Given the description of an element on the screen output the (x, y) to click on. 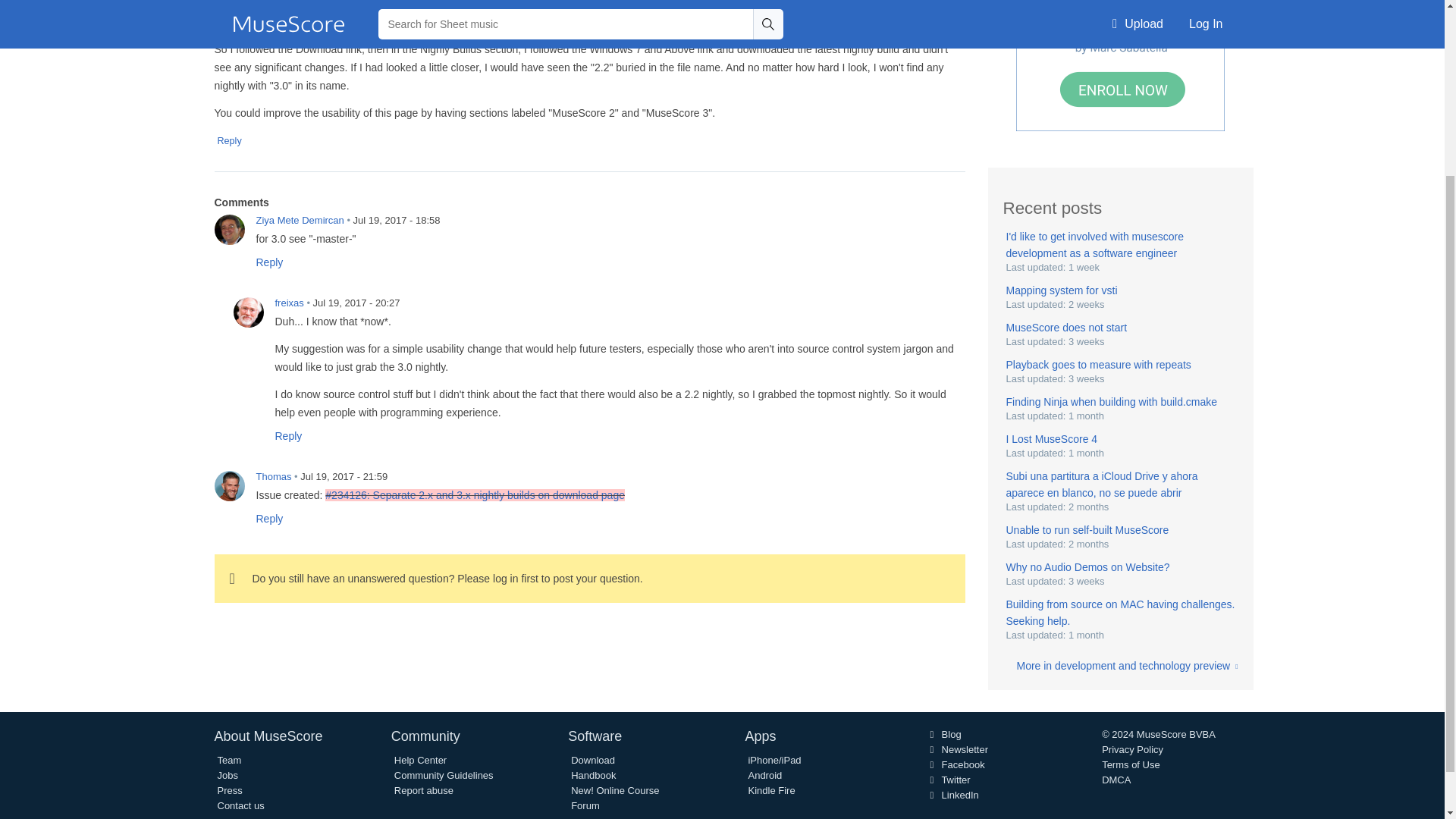
freixas (247, 312)
Thomas (229, 485)
Status: closed (474, 494)
Ziya Mete Demircan (229, 229)
